Given the description of an element on the screen output the (x, y) to click on. 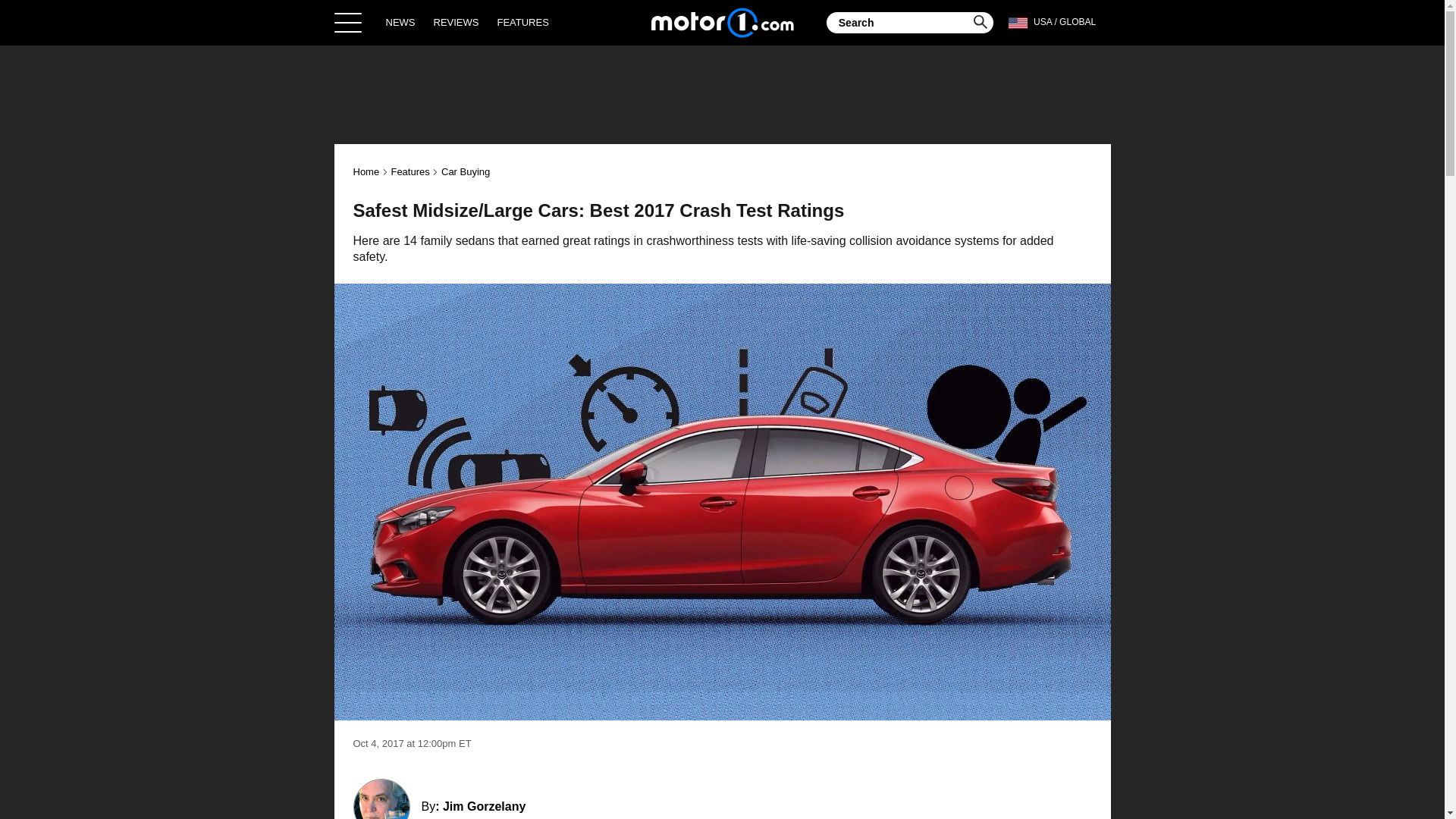
Home (721, 22)
Home (366, 171)
Car Buying (465, 171)
Jim Gorzelany (483, 806)
REVIEWS (456, 22)
NEWS (399, 22)
Features (409, 171)
FEATURES (522, 22)
